Given the description of an element on the screen output the (x, y) to click on. 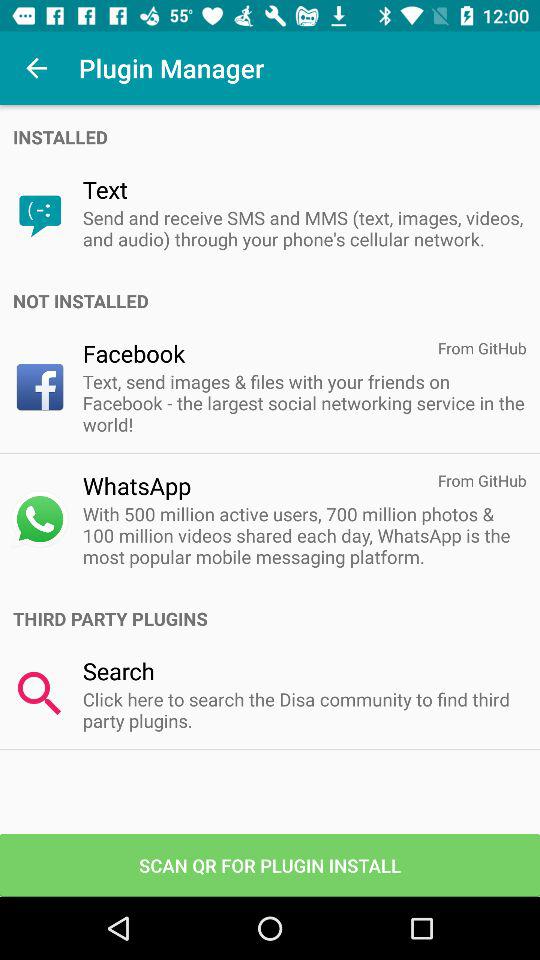
choose the not installed icon (276, 300)
